Given the description of an element on the screen output the (x, y) to click on. 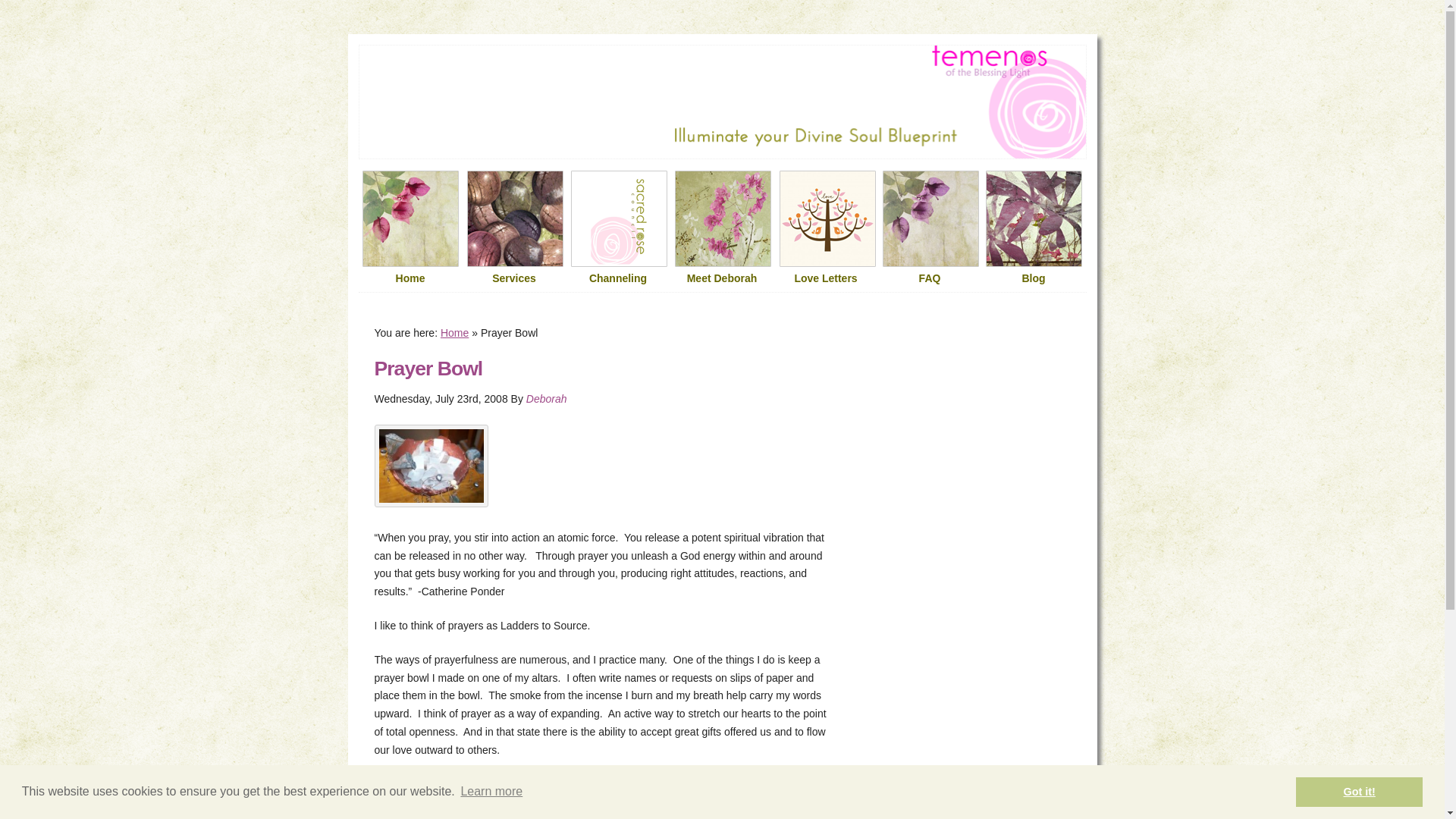
Deborah (546, 398)
Channeling (617, 278)
Meet Deborah (721, 278)
Learn more (491, 791)
Home (454, 332)
bowl (430, 466)
Got it! (1358, 791)
Home (409, 278)
Deborah (546, 398)
FAQ (929, 278)
Services (514, 278)
Love Letters (825, 278)
Blog (1032, 278)
